Given the description of an element on the screen output the (x, y) to click on. 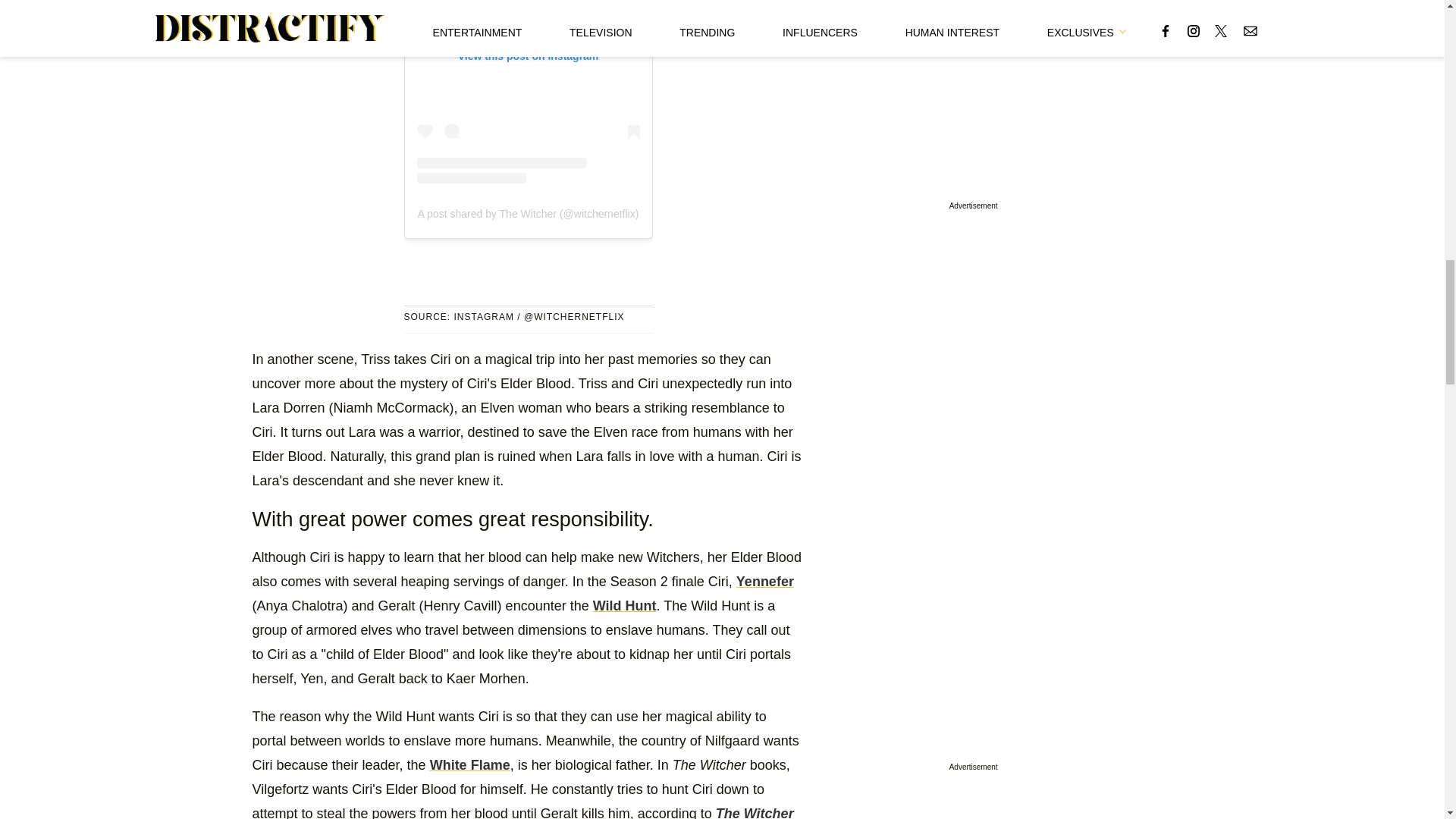
The Witcher Wiki (522, 812)
Wild Hunt (624, 604)
Yennefer (764, 580)
View this post on Instagram (528, 91)
White Flame (470, 764)
